Given the description of an element on the screen output the (x, y) to click on. 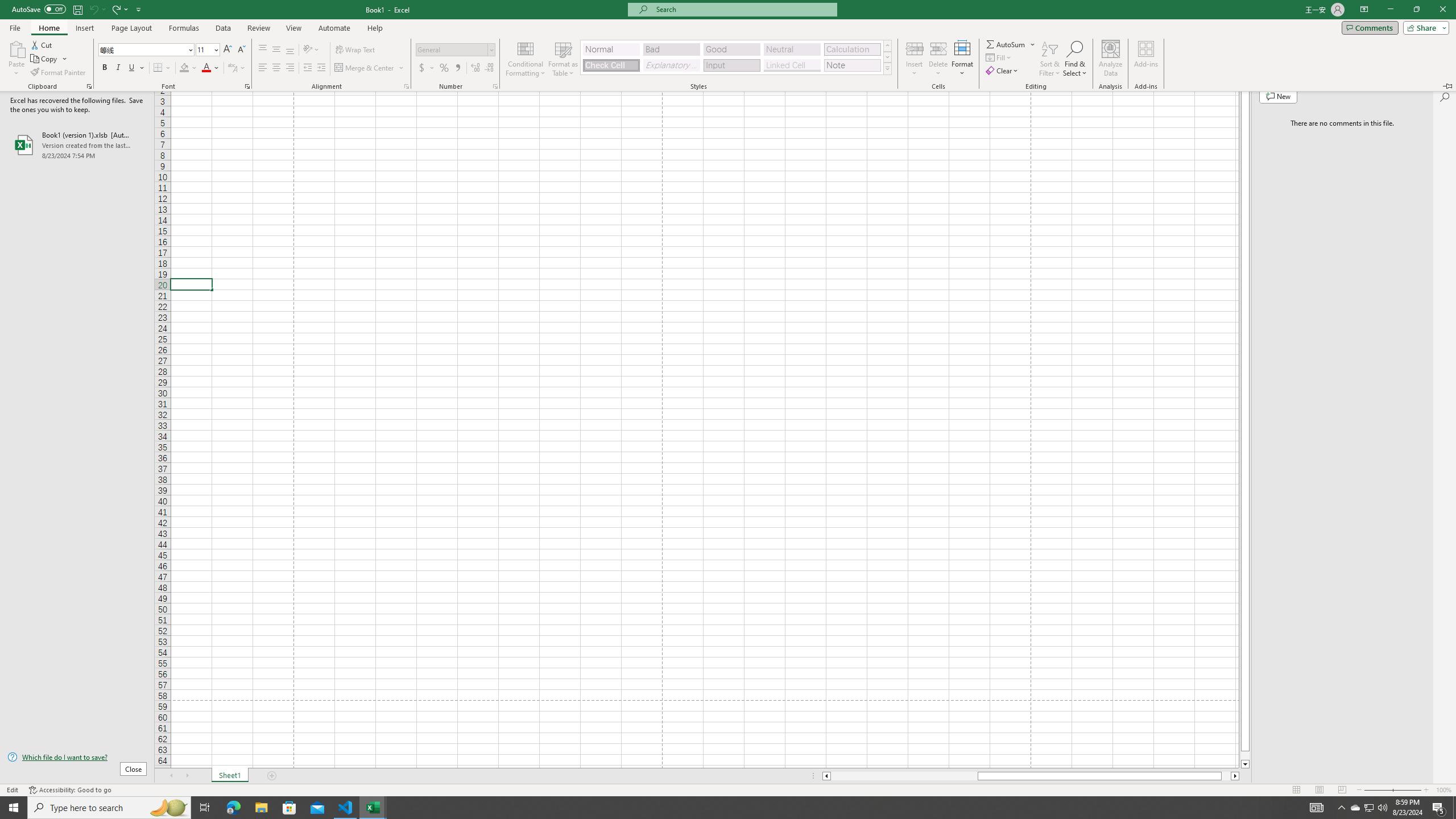
Microsoft Store (289, 807)
Column right (1235, 775)
Minimize (1390, 9)
Notification Chevron (1341, 807)
Book1 (version 1).xlsb  [AutoRecovered] (77, 144)
Which file do I want to save? (77, 757)
Ribbon Display Options (1364, 9)
Undo (96, 9)
Undo (92, 9)
Scroll Left (171, 775)
Data (223, 28)
